Given the description of an element on the screen output the (x, y) to click on. 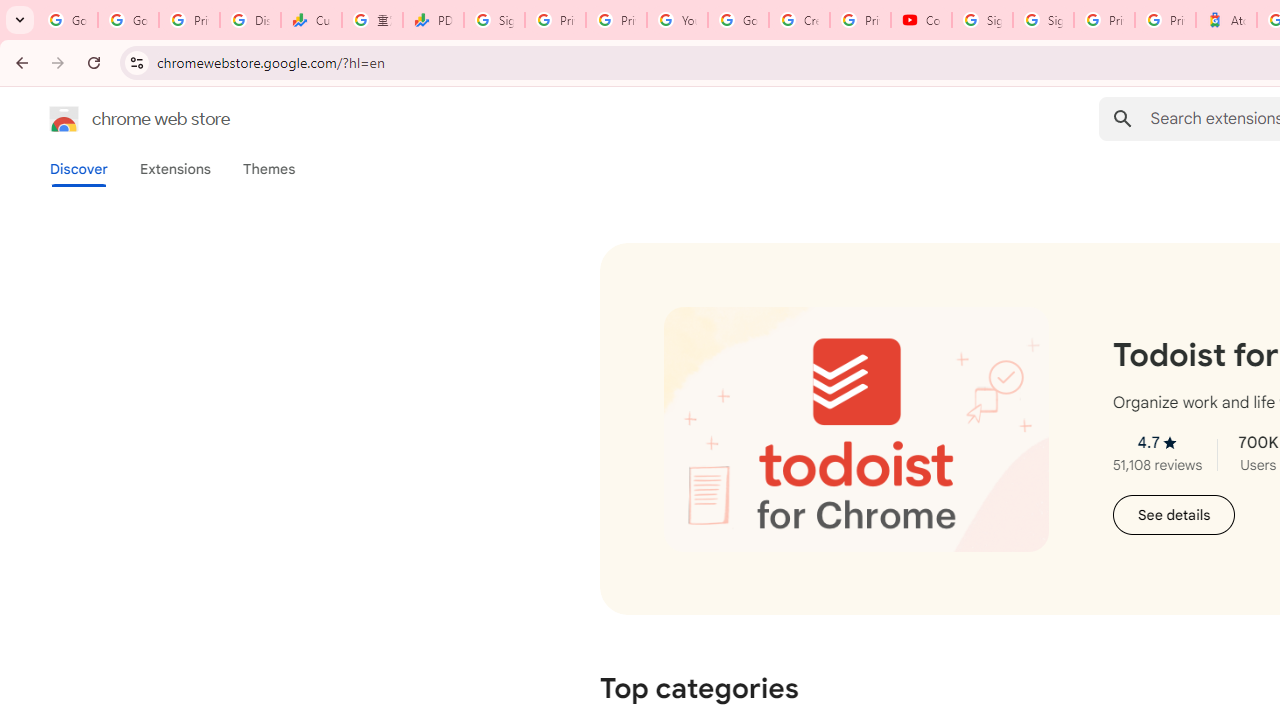
Atour Hotel - Google hotels (1225, 20)
Extensions (174, 169)
Google Account Help (738, 20)
Chrome Web Store logo chrome web store (118, 118)
PDD Holdings Inc - ADR (PDD) Price & News - Google Finance (433, 20)
Create your Google Account (799, 20)
Content Creator Programs & Opportunities - YouTube Creators (921, 20)
YouTube (676, 20)
Discover (79, 169)
Currencies - Google Finance (310, 20)
